Given the description of an element on the screen output the (x, y) to click on. 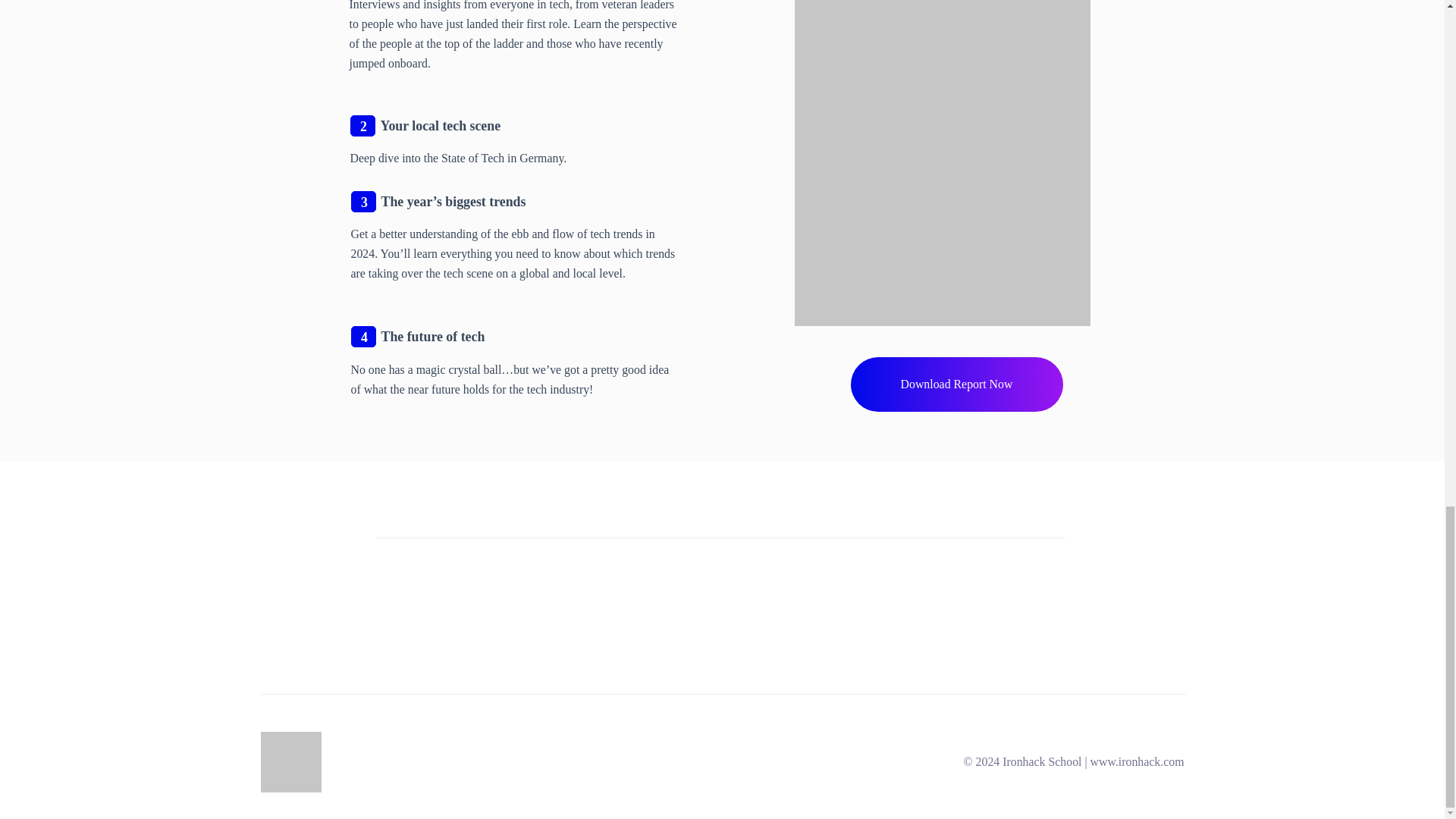
Download Report Now (956, 384)
